Given the description of an element on the screen output the (x, y) to click on. 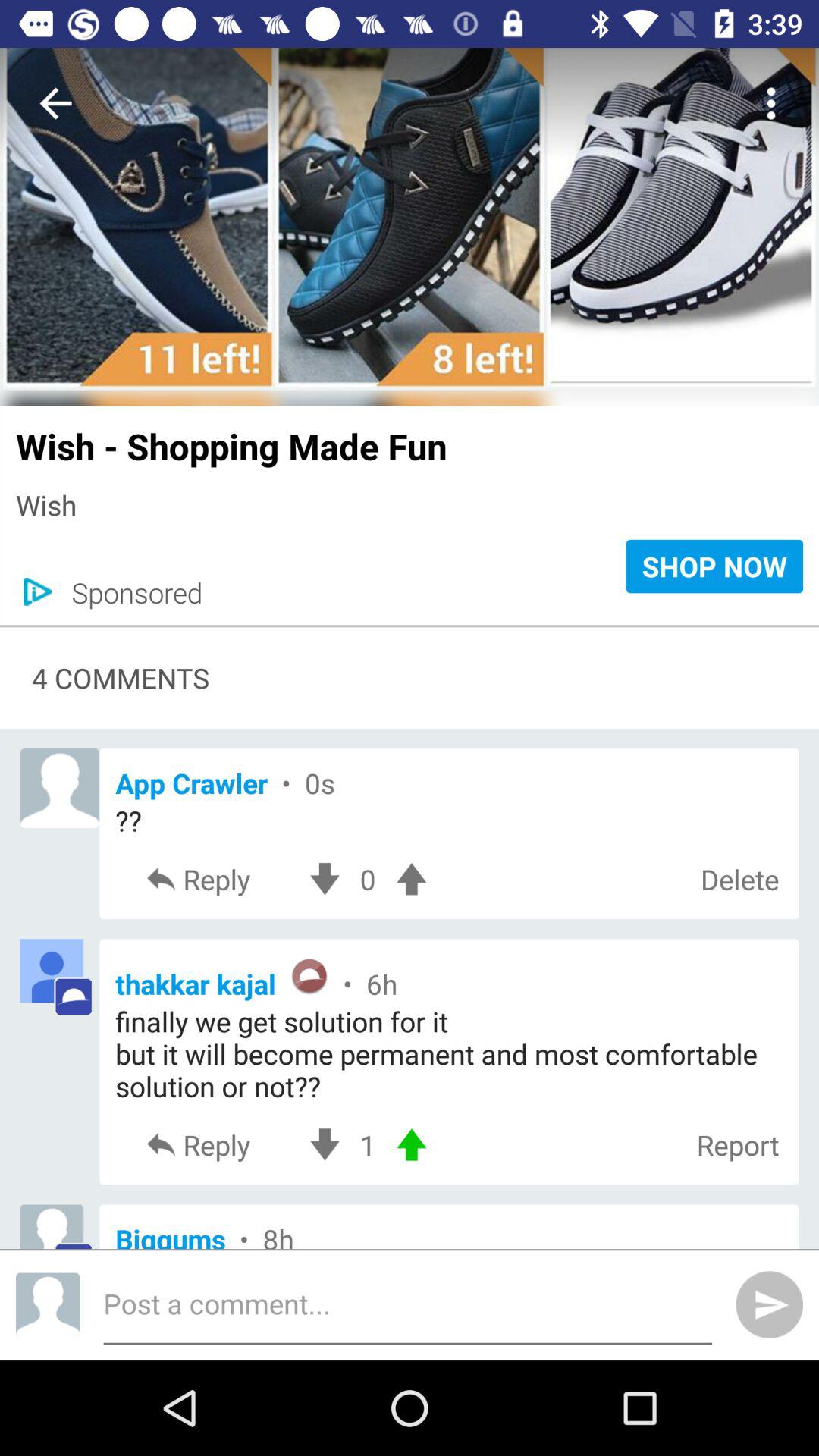
scroll until 1 (367, 1144)
